Given the description of an element on the screen output the (x, y) to click on. 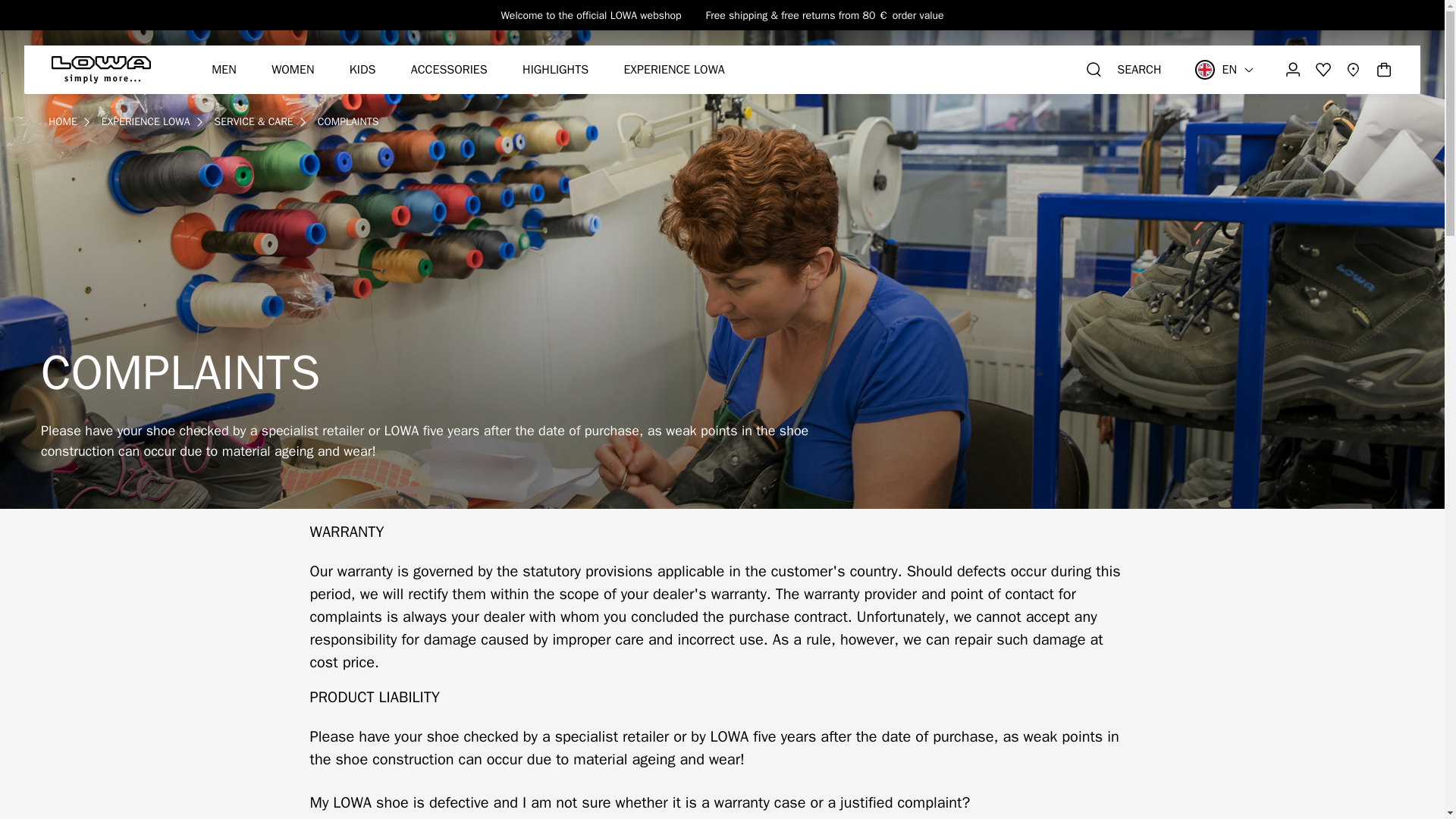
ACCESSORIES (449, 69)
KIDS (362, 69)
WOMEN (293, 69)
Go to Home Page (62, 121)
MEN (223, 69)
